Given the description of an element on the screen output the (x, y) to click on. 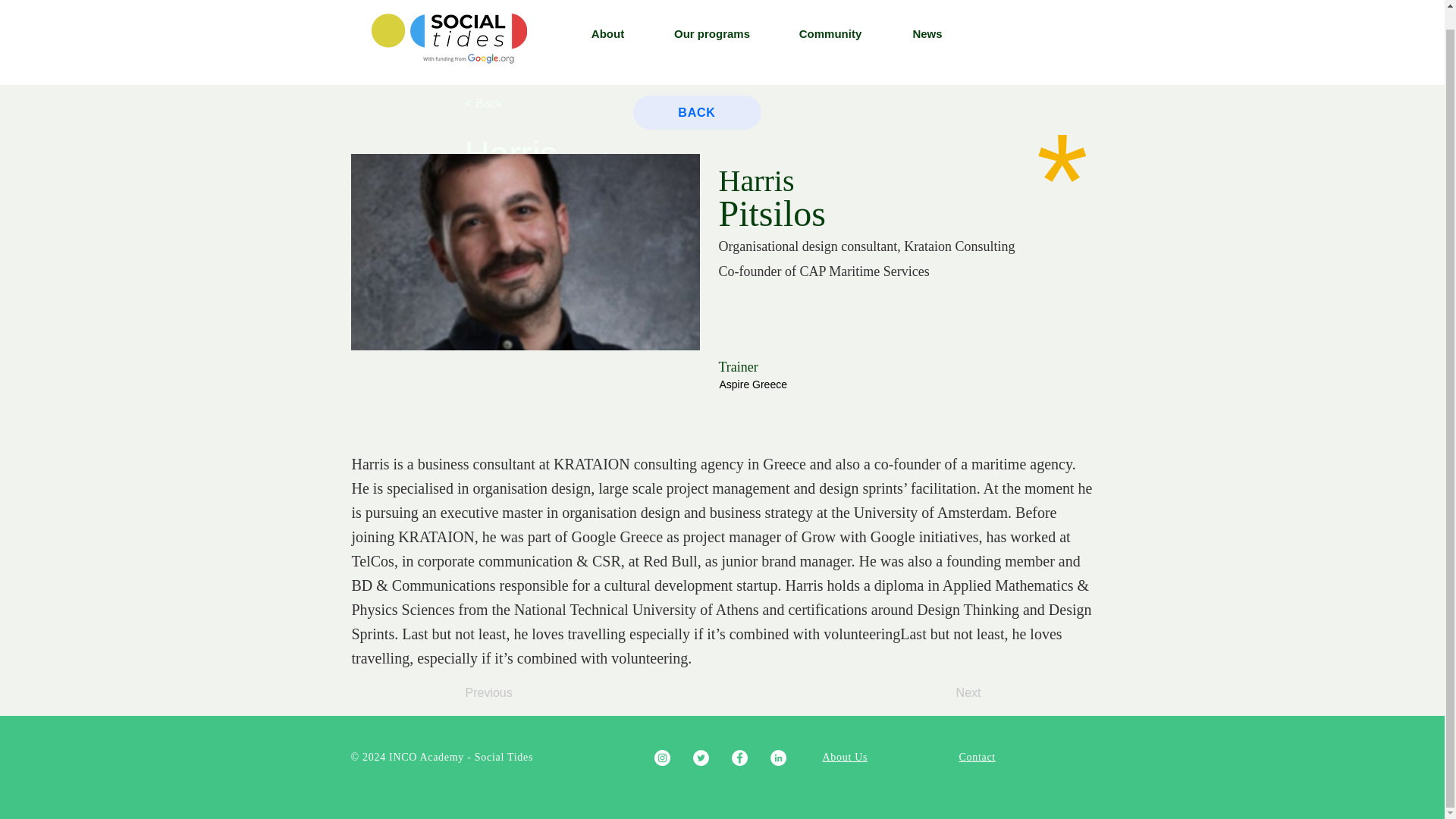
BACK (695, 112)
Our programs (711, 17)
Previous (515, 693)
Contact (976, 756)
Plan de travail 2 copie 30.png (449, 22)
News (926, 17)
Harris Pitsilos.png (524, 251)
Next (943, 693)
About Us (844, 756)
